Given the description of an element on the screen output the (x, y) to click on. 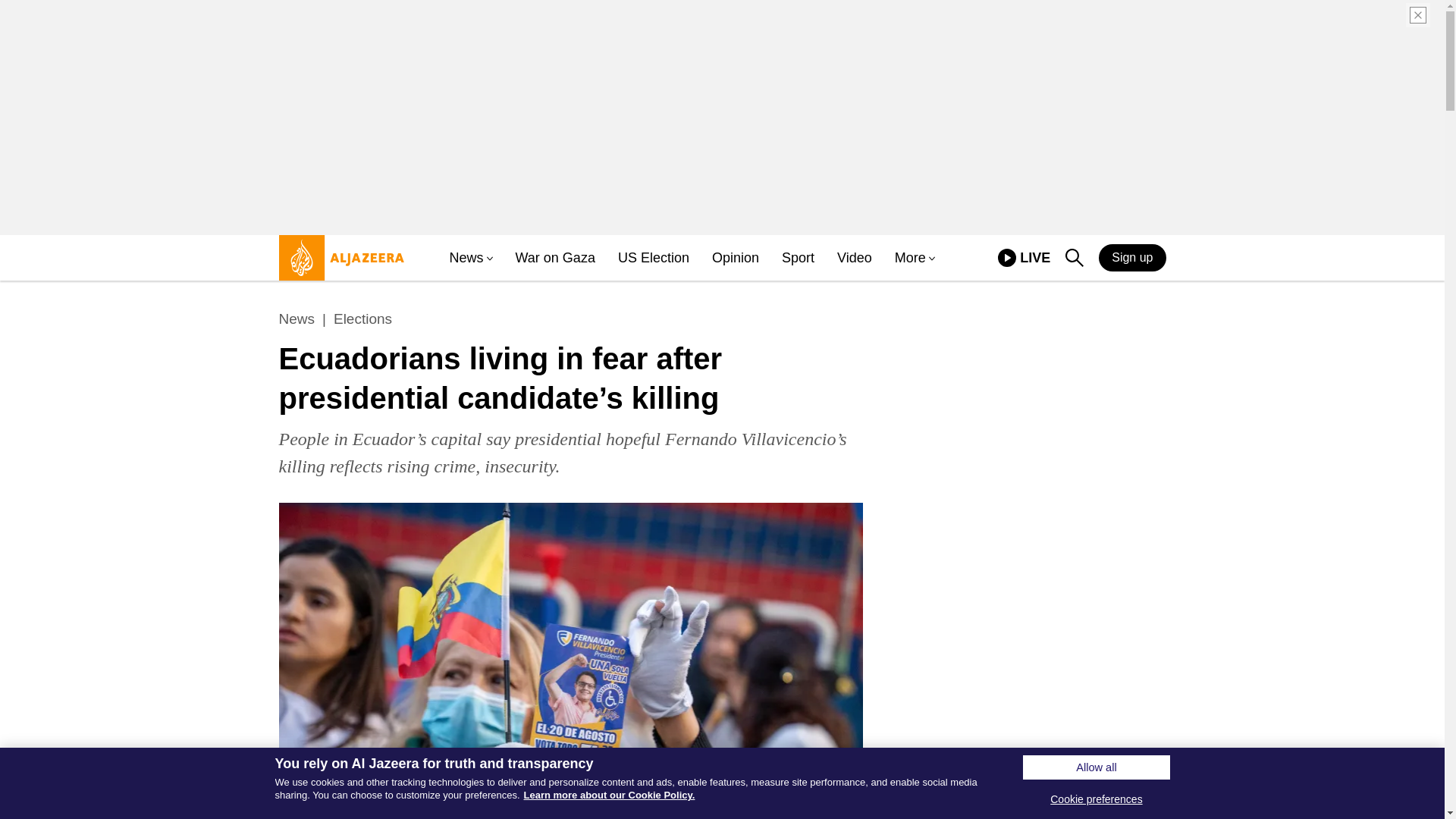
Opinion (734, 257)
US Election (652, 257)
Skip to Content (337, 264)
War on Gaza (1023, 257)
search (555, 257)
News (1074, 257)
Elections (465, 257)
Sign up (362, 319)
More (1132, 257)
